Given the description of an element on the screen output the (x, y) to click on. 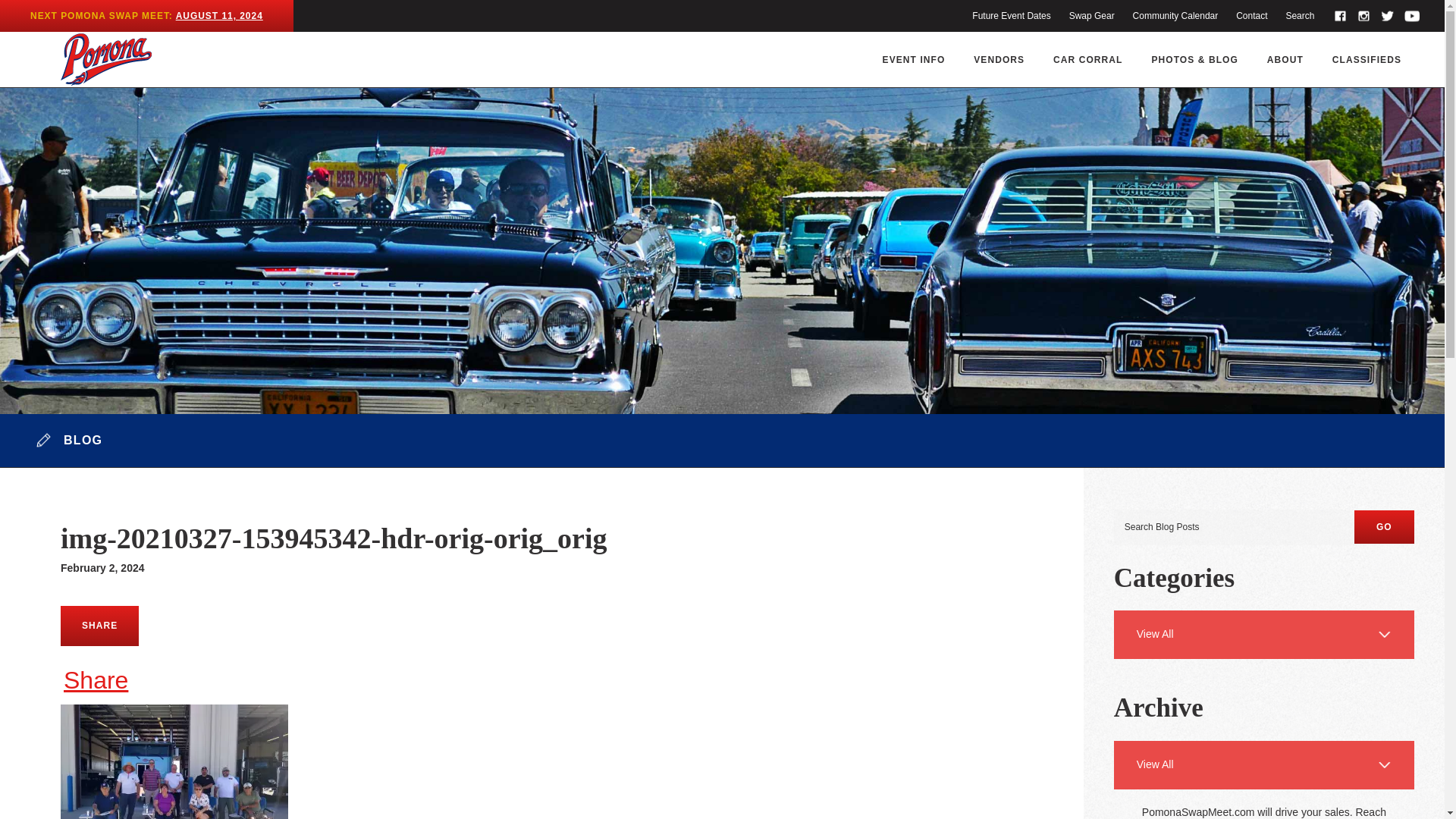
AUGUST 11, 2024 (219, 15)
Future Event Dates (1011, 15)
ABOUT (1285, 59)
EVENT INFO (914, 59)
Community Calendar (1176, 15)
Contact (1251, 15)
Search (1299, 15)
VENDORS (998, 59)
CAR CORRAL (1087, 59)
GO (1383, 526)
Swap Gear (1091, 15)
